Given the description of an element on the screen output the (x, y) to click on. 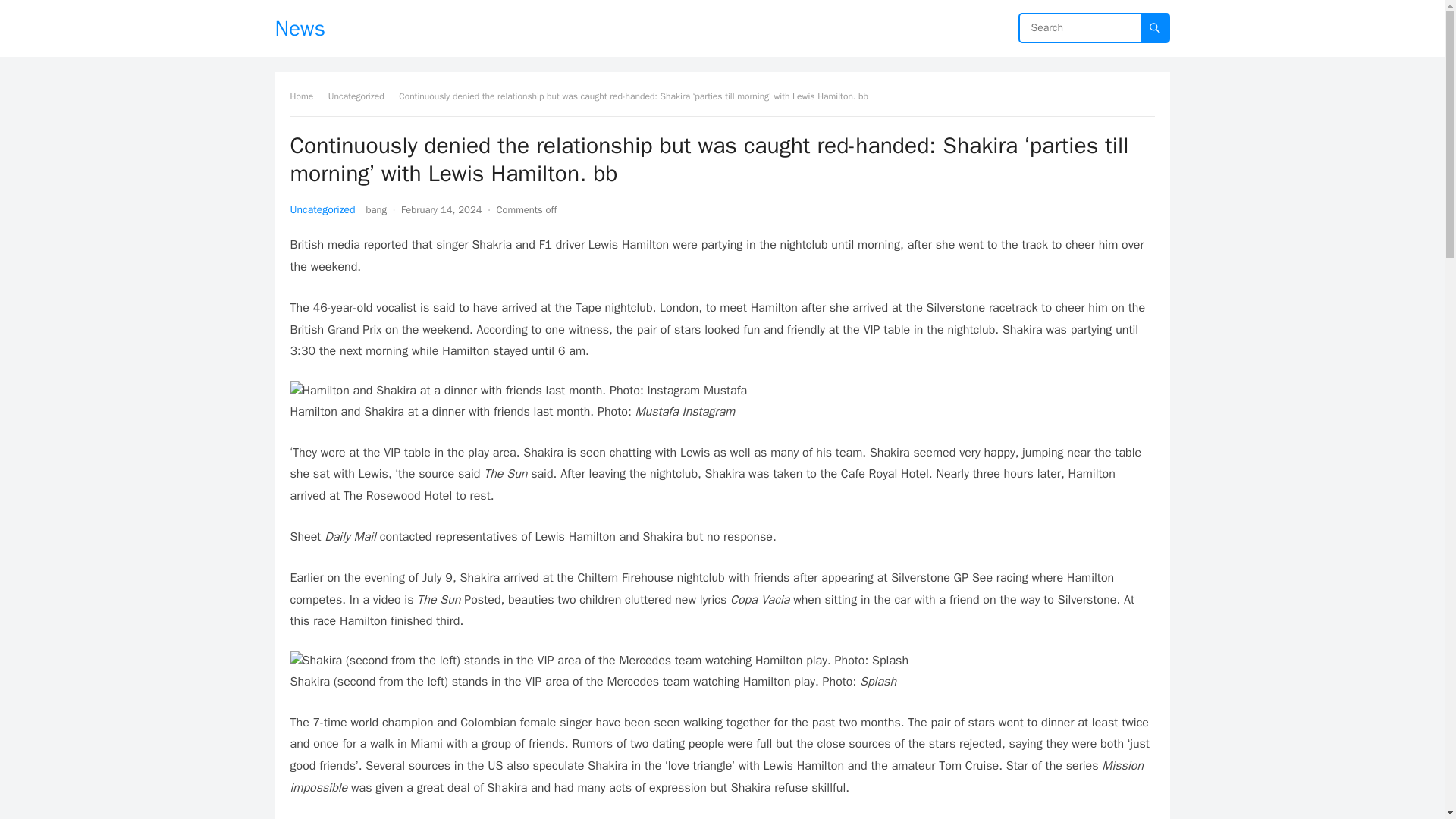
Posts by bang (376, 209)
News (299, 28)
